Given the description of an element on the screen output the (x, y) to click on. 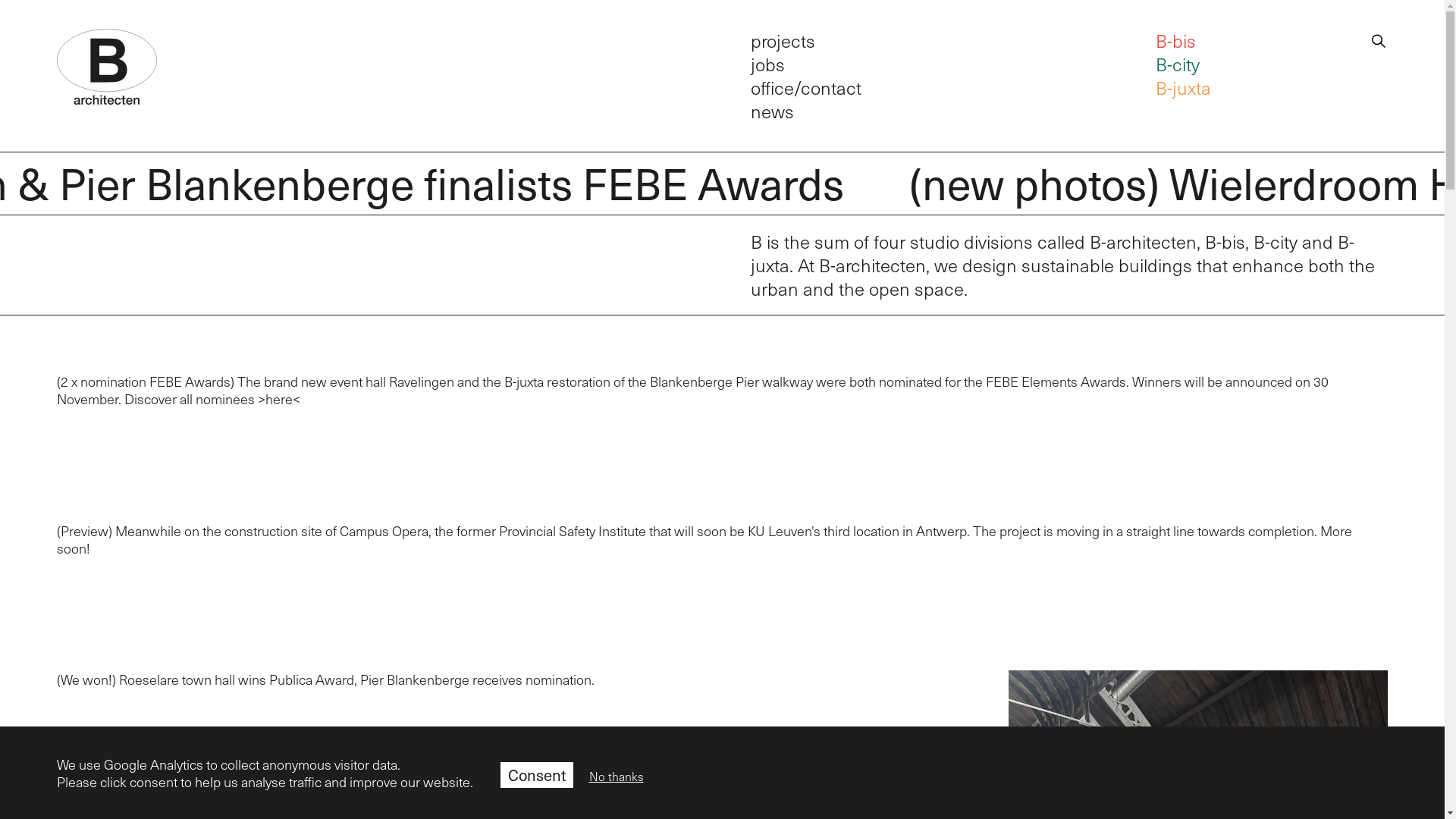
search Element type: text (1378, 37)
office/contact Element type: text (805, 86)
B-juxta Element type: text (1183, 86)
No thanks Element type: text (615, 776)
B-bis Element type: text (1175, 39)
projects Element type: text (782, 39)
jobs Element type: text (767, 63)
B-city Element type: text (1177, 63)
news Element type: text (771, 110)
Consent Element type: text (536, 774)
